Given the description of an element on the screen output the (x, y) to click on. 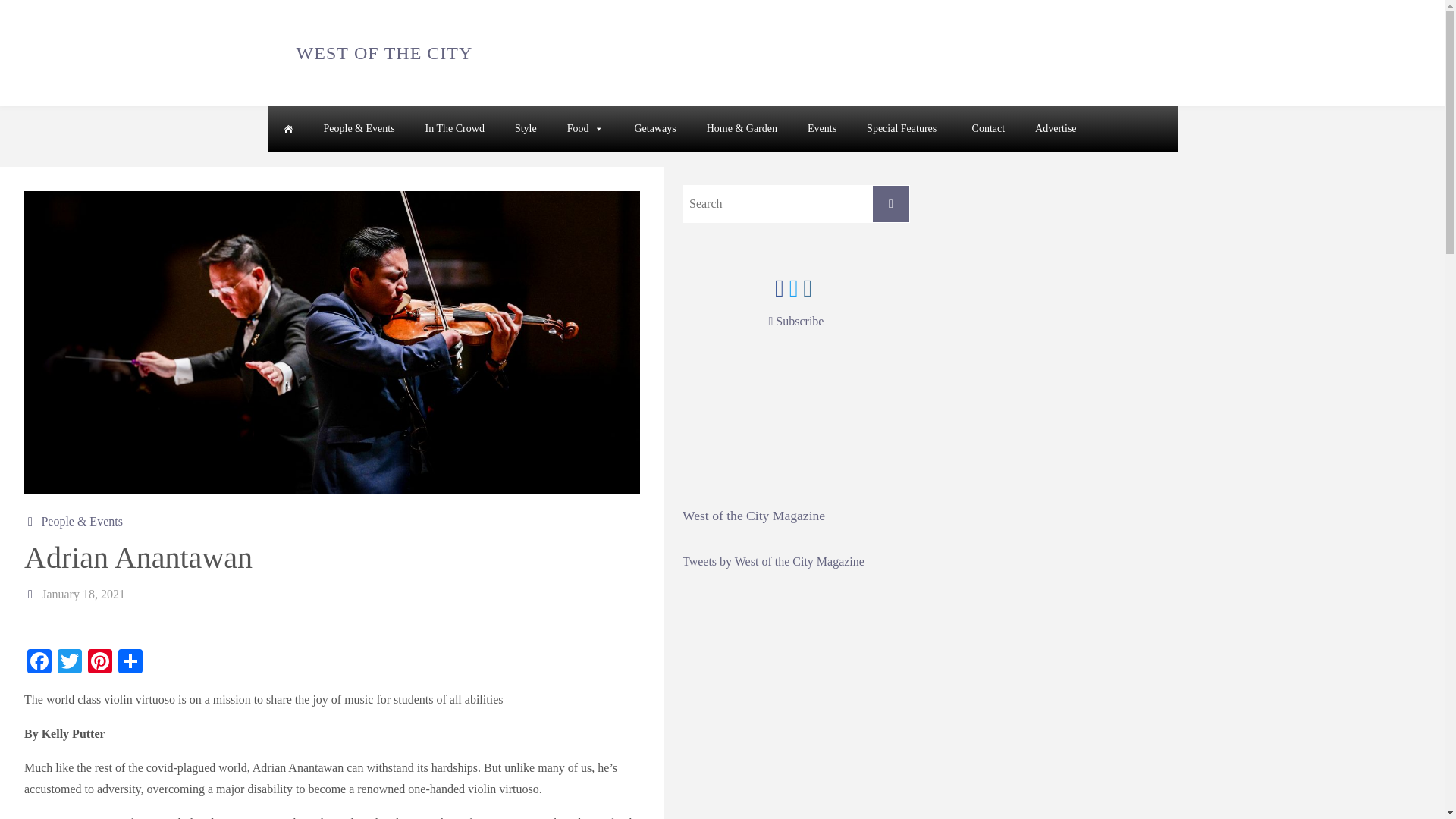
Twitter (69, 663)
Date (31, 594)
West of the City Magazine (753, 515)
Getaways (654, 128)
Facebook (39, 663)
Advertise (1055, 128)
Style (525, 128)
WEST OF THE CITY (385, 52)
Twitter (69, 663)
Facebook (39, 663)
 Subscribe (796, 320)
Food (585, 128)
Categories (31, 521)
Pinterest (99, 663)
Share (130, 663)
